Given the description of an element on the screen output the (x, y) to click on. 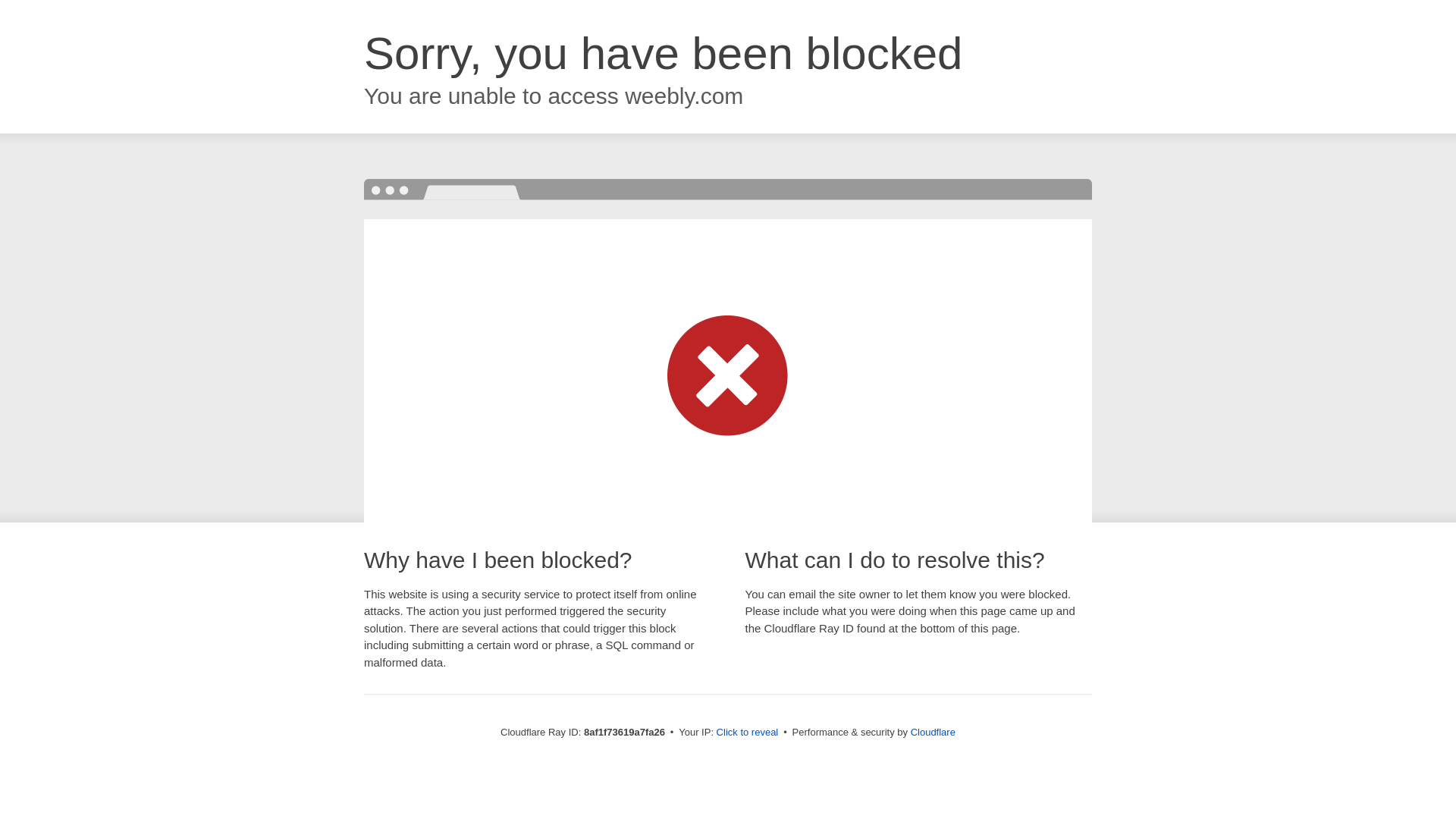
Cloudflare (933, 731)
Click to reveal (747, 732)
